Given the description of an element on the screen output the (x, y) to click on. 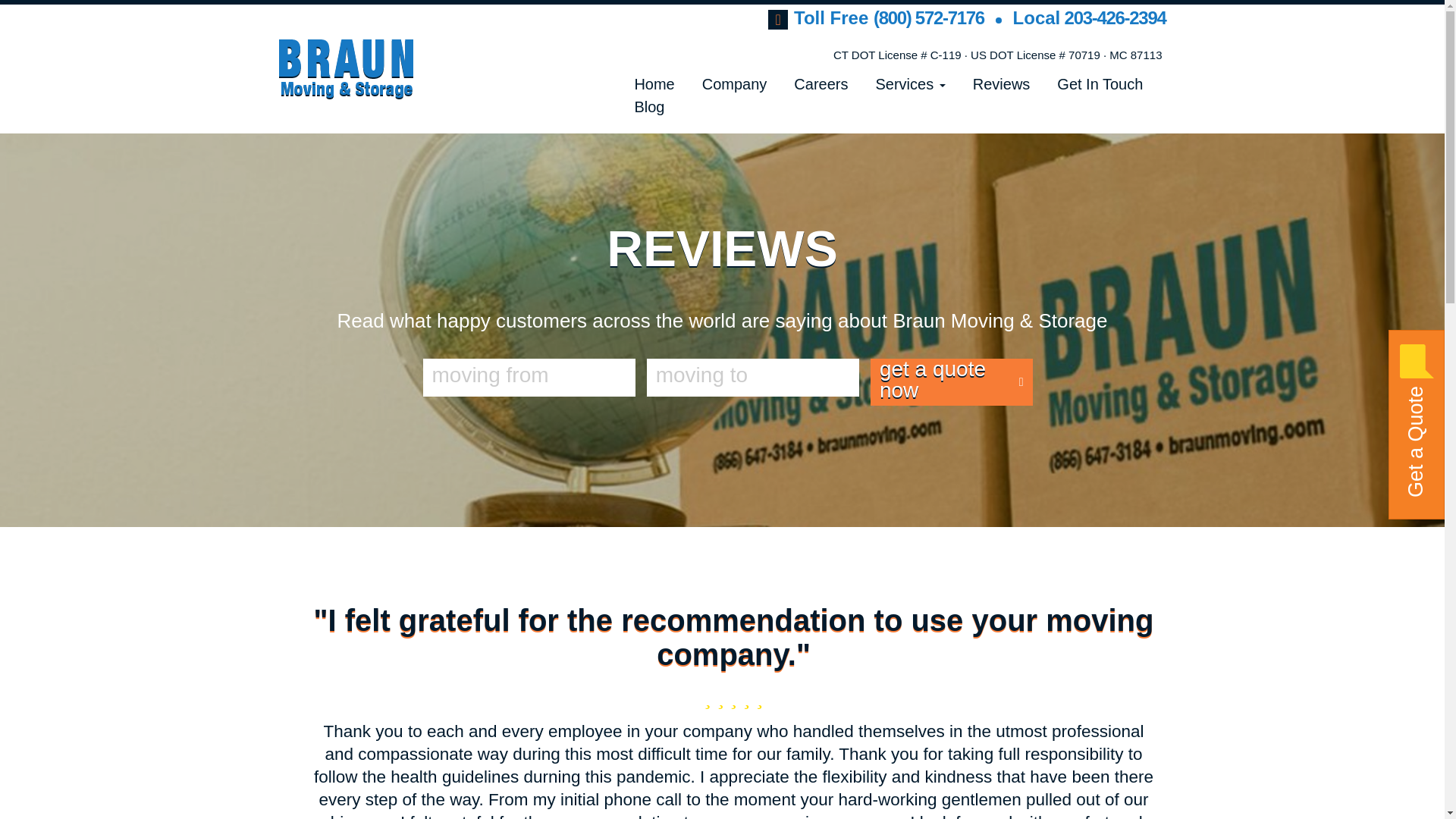
Services (909, 83)
Blog (648, 106)
get a quote now (951, 381)
Careers (820, 83)
Home (653, 83)
Get In Touch (1099, 83)
Company (734, 83)
203-426-2394 (1112, 17)
Reviews (1001, 83)
